Given the description of an element on the screen output the (x, y) to click on. 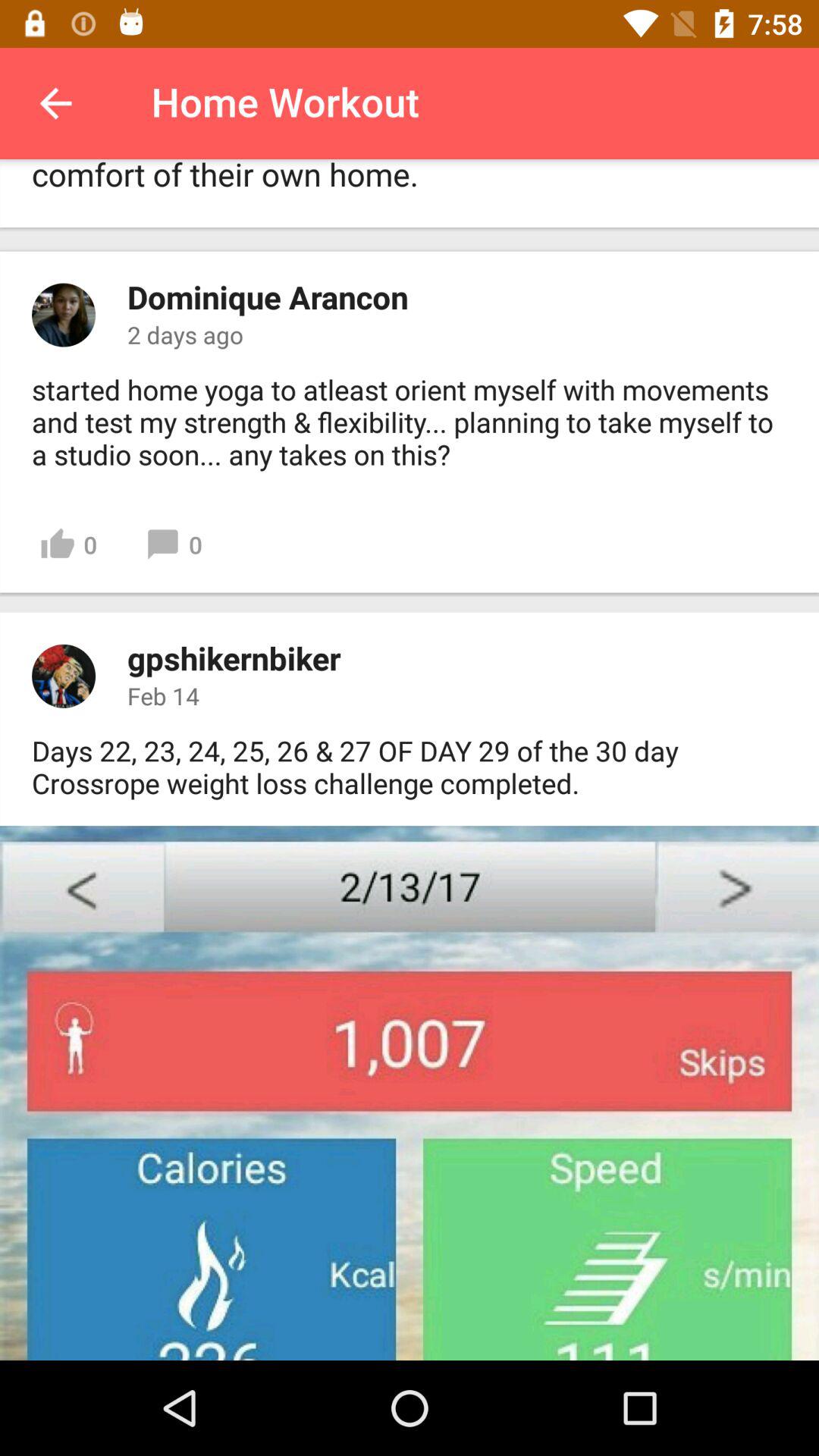
profile picture (63, 314)
